Given the description of an element on the screen output the (x, y) to click on. 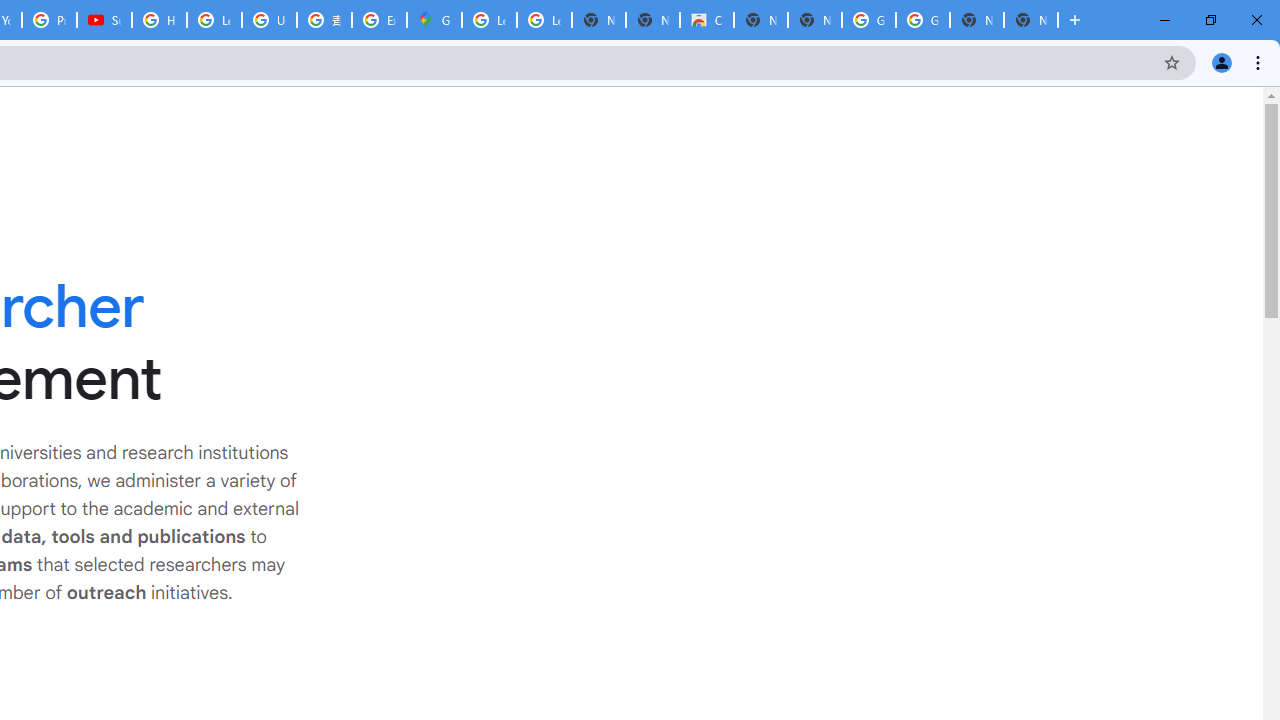
Subscriptions - YouTube (103, 20)
